Given the description of an element on the screen output the (x, y) to click on. 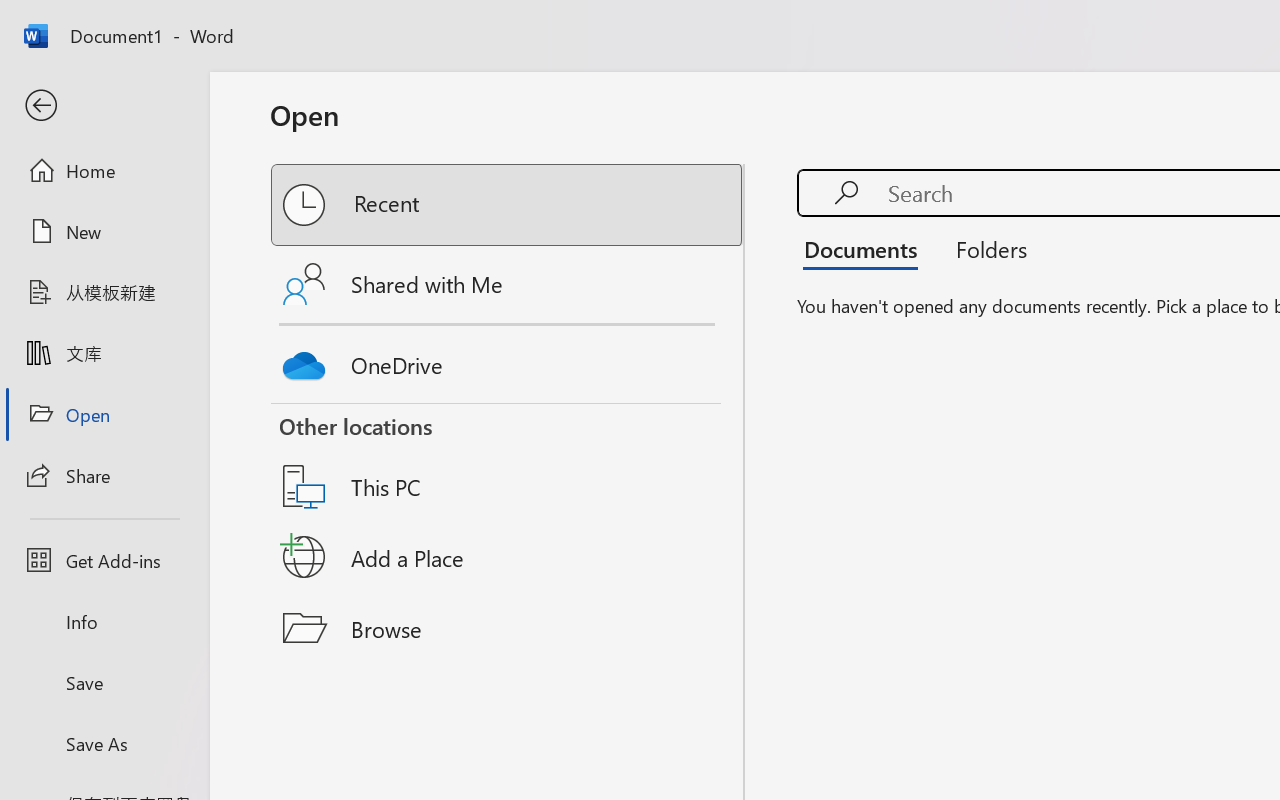
Documents (866, 248)
New (104, 231)
Folders (984, 248)
Shared with Me (507, 283)
Info (104, 621)
Browse (507, 627)
Add a Place (507, 557)
Get Add-ins (104, 560)
This PC (507, 461)
Save As (104, 743)
